Given the description of an element on the screen output the (x, y) to click on. 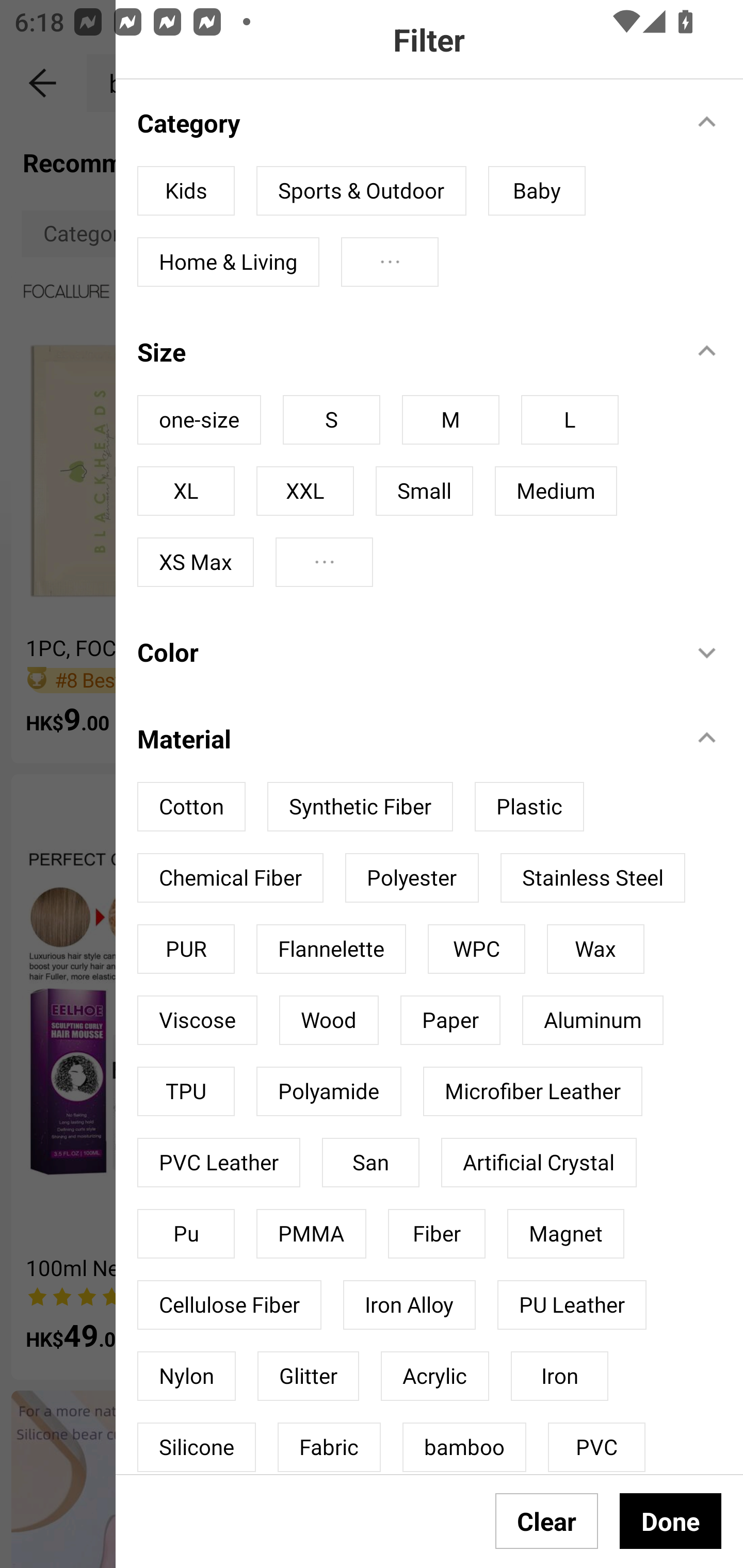
Category (403, 122)
Kids (185, 191)
Sports & Outdoor (361, 191)
Baby (536, 191)
Home & Living (228, 261)
Size (403, 351)
one-size (198, 420)
S (331, 420)
M (450, 420)
L (569, 420)
XL (185, 490)
XXL (304, 490)
Small (424, 490)
Medium (555, 490)
XS Max (195, 561)
Color (403, 652)
Material (403, 738)
Cotton (191, 806)
Synthetic Fiber (360, 806)
Plastic (528, 806)
Chemical Fiber (230, 877)
Polyester (411, 877)
Stainless Steel (592, 877)
PUR (185, 948)
Flannelette (331, 948)
WPC (476, 948)
Wax (595, 948)
Viscose (197, 1019)
Wood (328, 1019)
Paper (450, 1019)
Aluminum (592, 1019)
TPU (185, 1091)
Polyamide (328, 1091)
Microfiber Leather (532, 1091)
PVC Leather (218, 1162)
San (370, 1162)
Artificial Crystal (538, 1162)
Pu (185, 1233)
PMMA (311, 1233)
Fiber (436, 1233)
Magnet (565, 1233)
Cellulose Fiber (229, 1304)
Iron Alloy (409, 1304)
PU Leather (571, 1304)
Nylon (186, 1375)
Glitter (307, 1375)
Acrylic (434, 1375)
Iron (559, 1375)
Silicone (196, 1447)
Fabric (328, 1447)
bamboo (464, 1447)
PVC (596, 1447)
Clear (546, 1520)
Done (670, 1520)
